Given the description of an element on the screen output the (x, y) to click on. 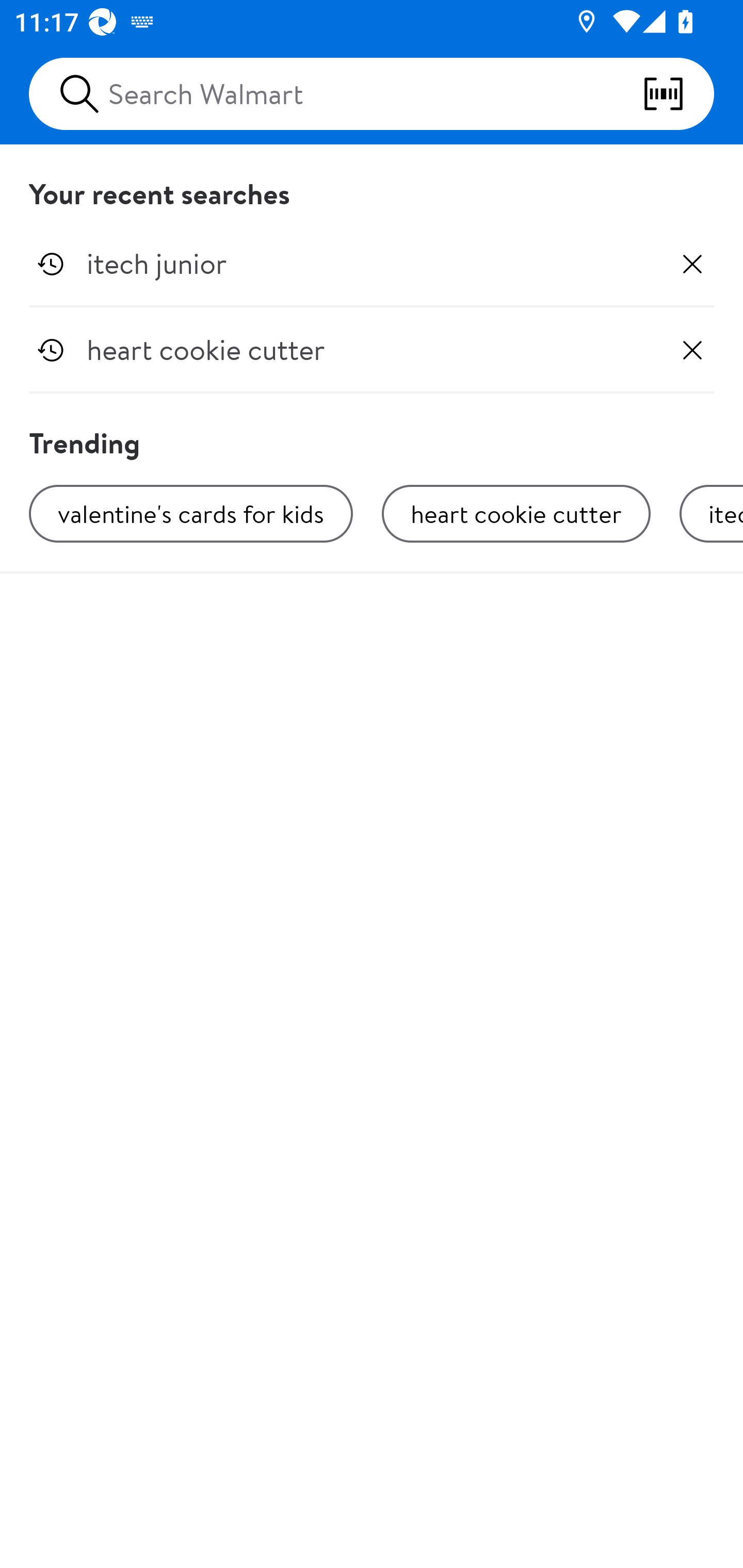
Search Walmart scan barcodes qr codes and more (371, 94)
scan barcodes qr codes and more (677, 94)
Remove recent search for itech junior (692, 264)
Remove recent search for heart cookie cutter (692, 350)
